Given the description of an element on the screen output the (x, y) to click on. 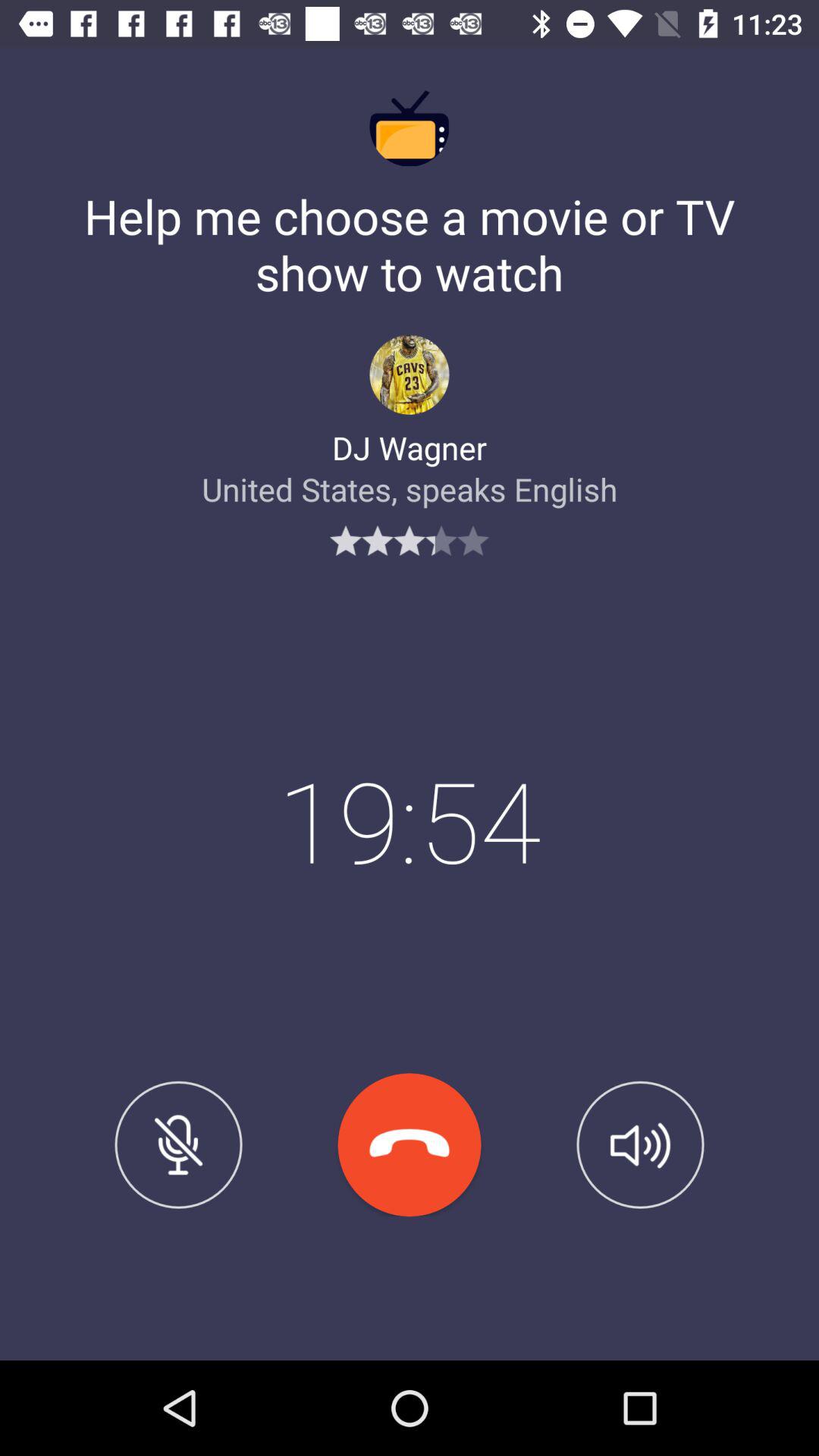
toggle speaker option (640, 1144)
